Given the description of an element on the screen output the (x, y) to click on. 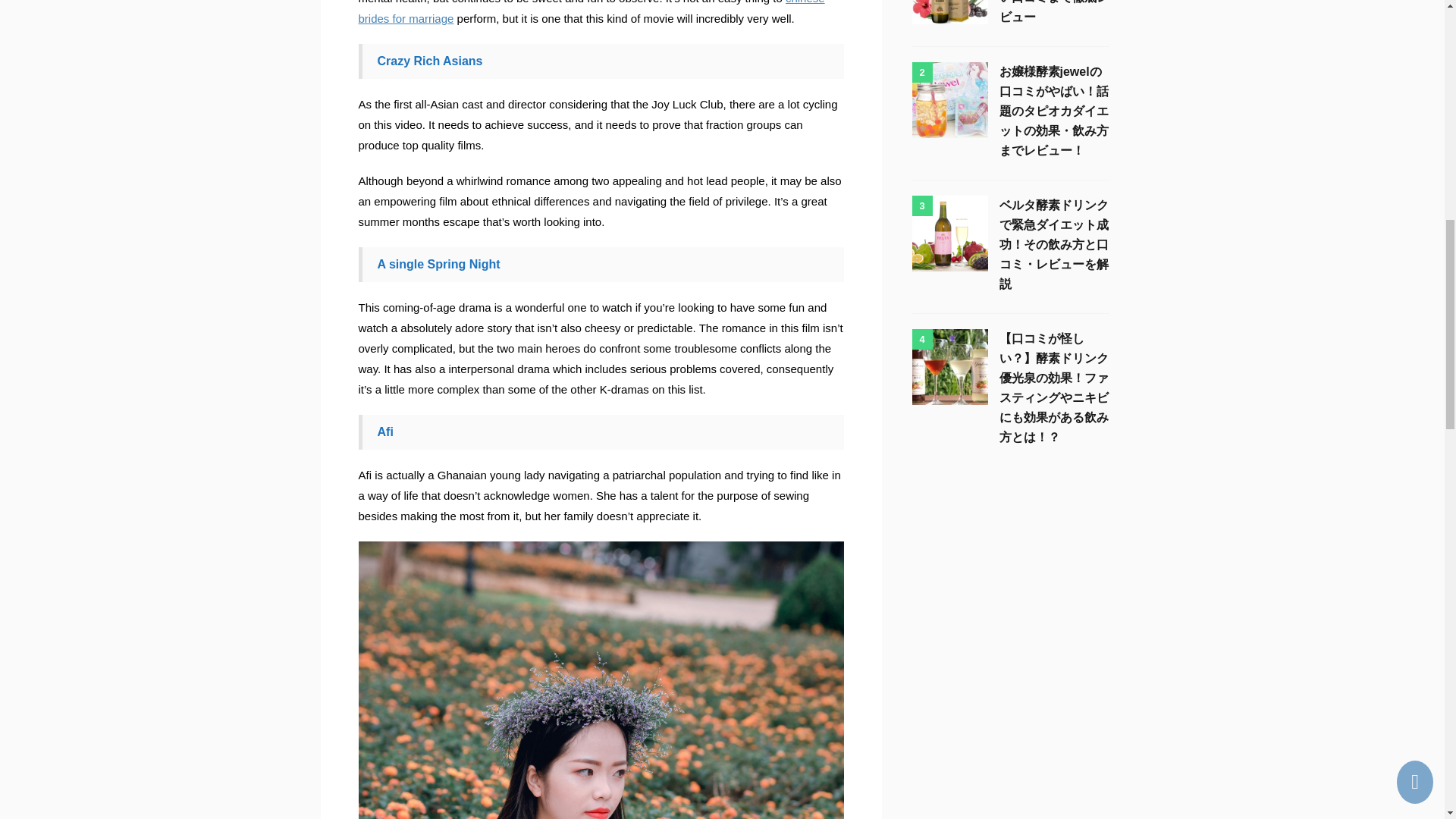
chinese brides for marriage (591, 12)
